Given the description of an element on the screen output the (x, y) to click on. 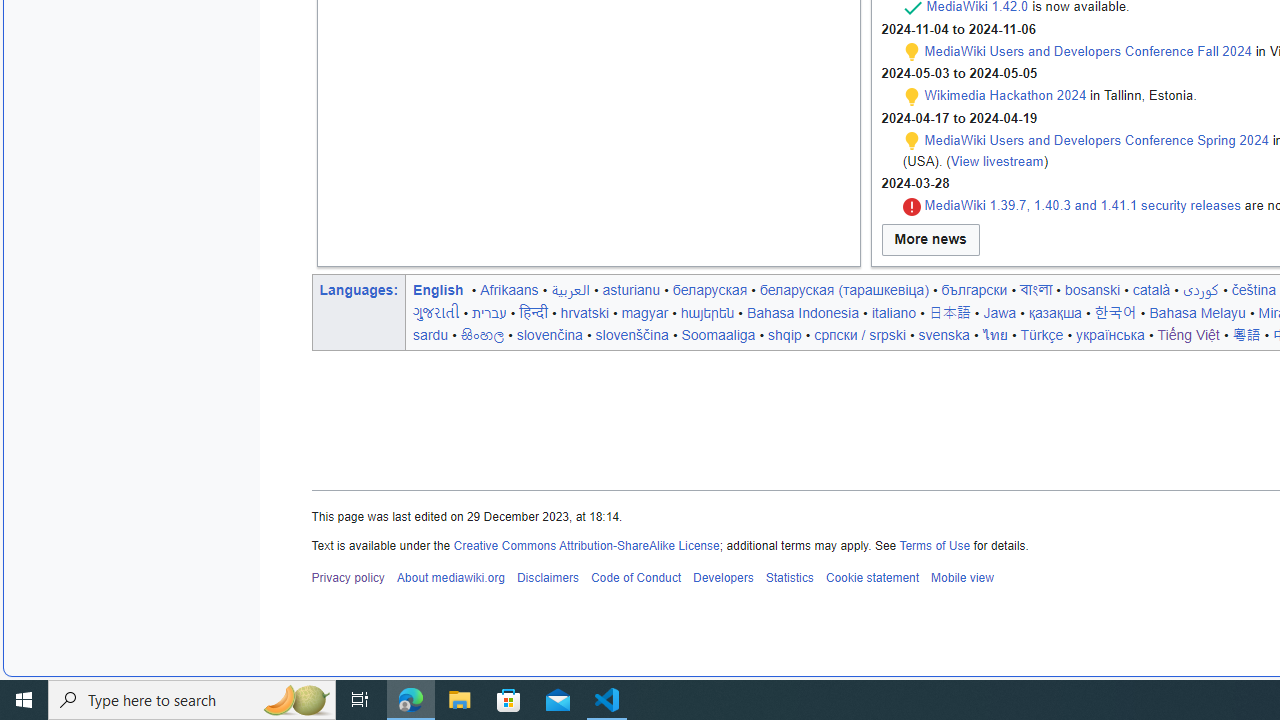
Security (911, 206)
MediaWiki Users and Developers Conference Fall 2024 (1087, 51)
Statistics (789, 578)
shqip (785, 334)
View livestream (996, 160)
Disclaimers (546, 578)
Privacy policy (348, 578)
Afrikaans (509, 289)
English (438, 289)
Developers (722, 578)
Disclaimers (546, 578)
